Given the description of an element on the screen output the (x, y) to click on. 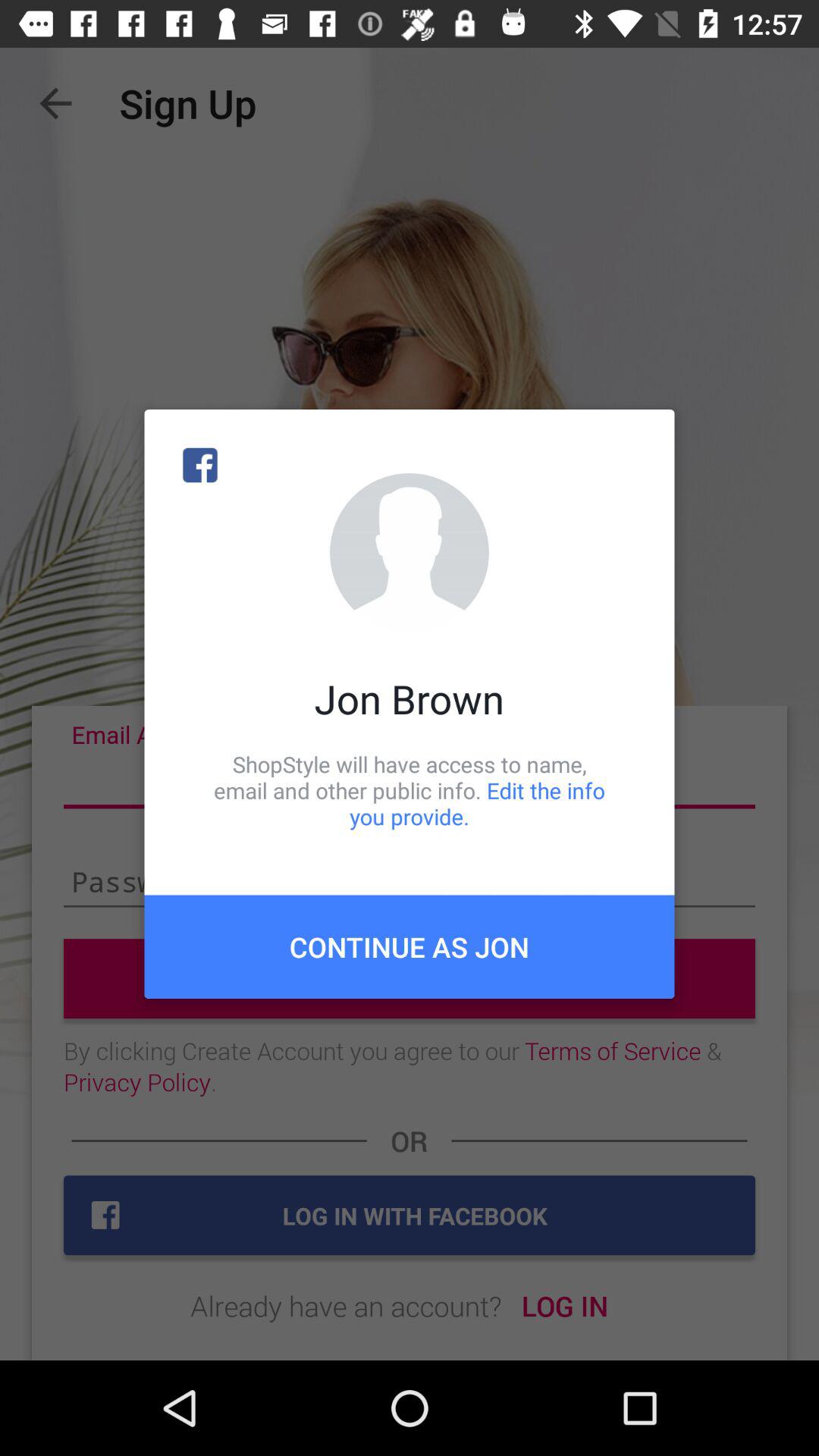
open item below jon brown item (409, 790)
